Given the description of an element on the screen output the (x, y) to click on. 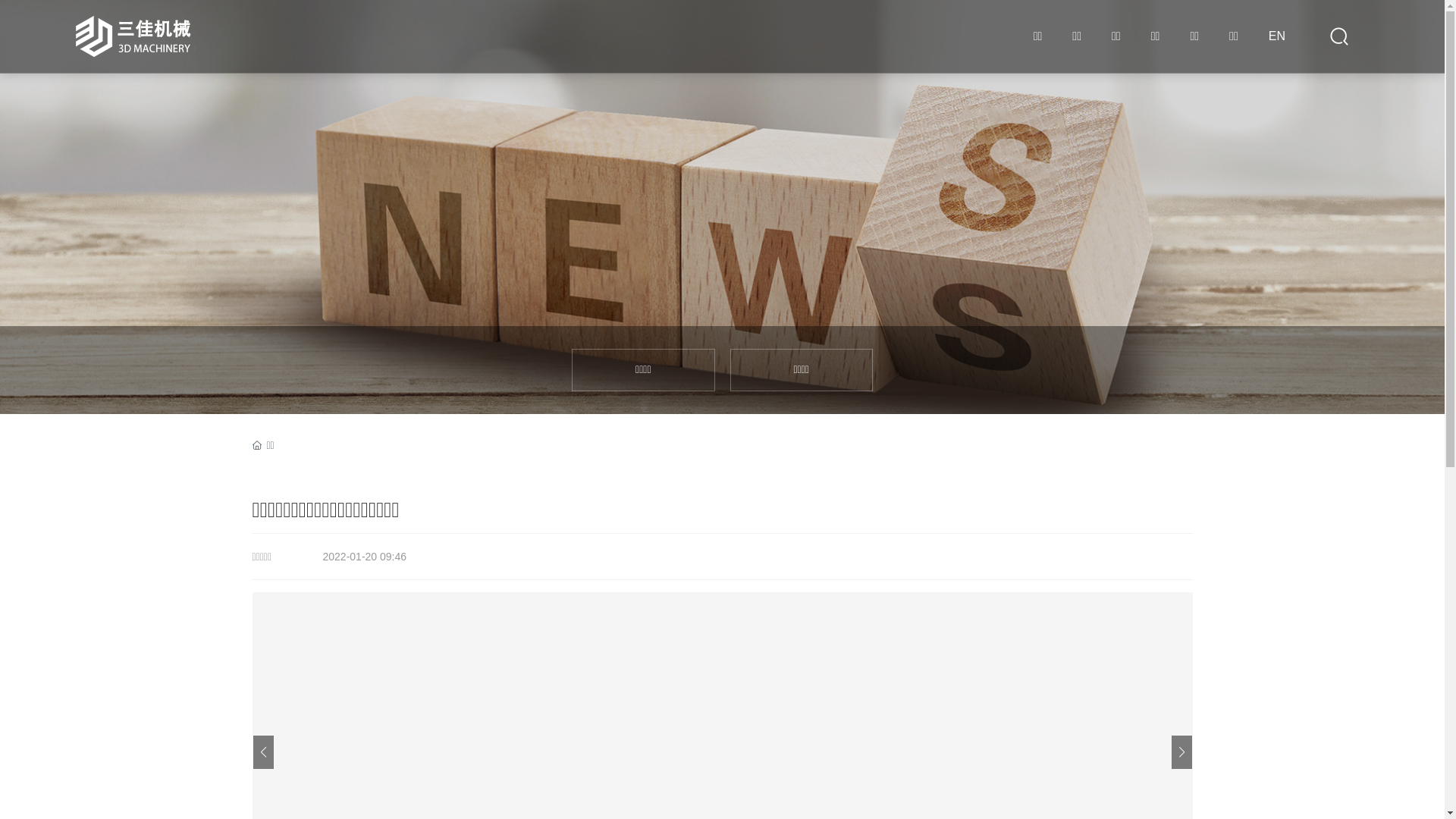
EN Element type: text (1276, 36)
